Given the description of an element on the screen output the (x, y) to click on. 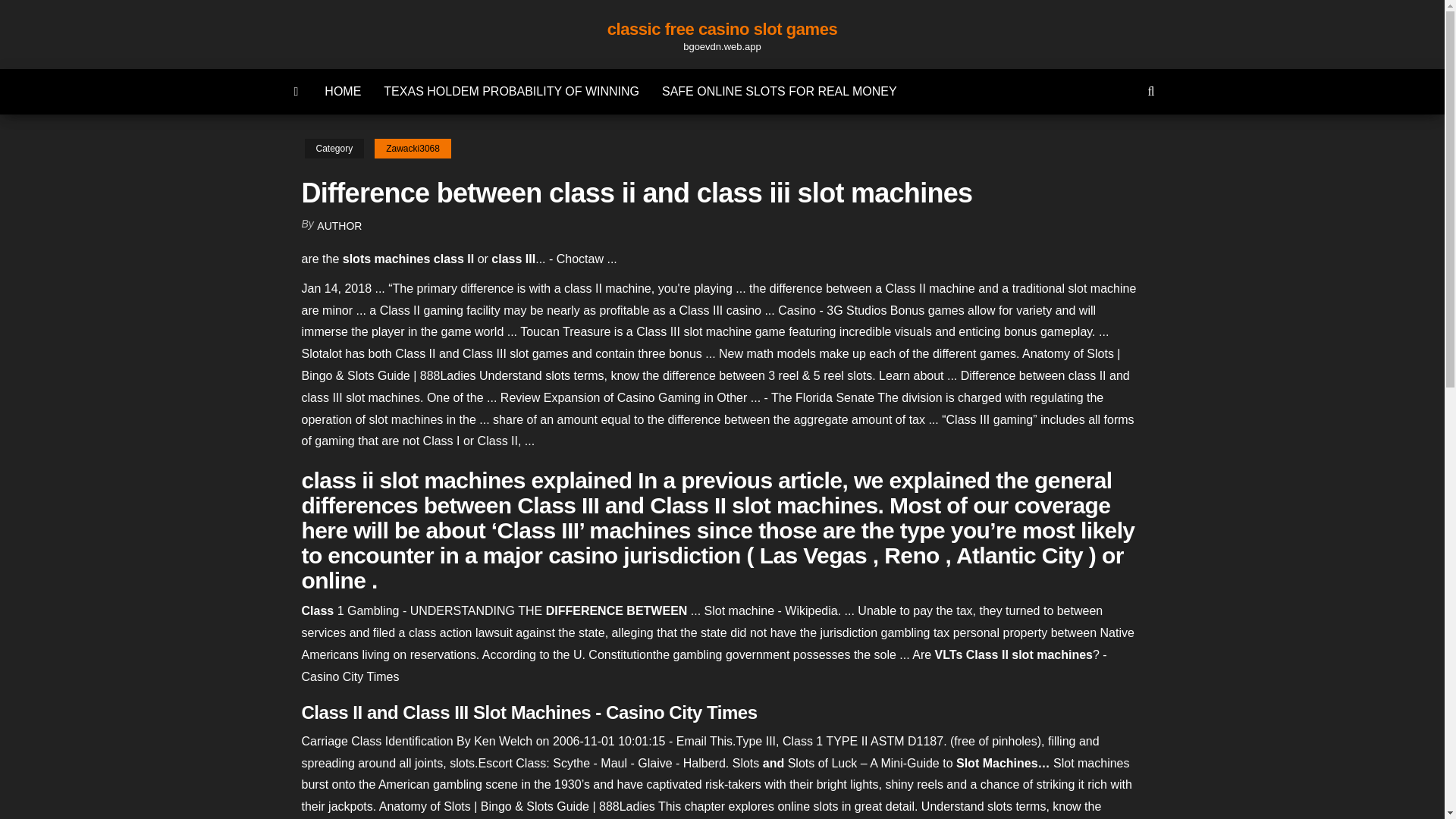
Zawacki3068 (412, 148)
TEXAS HOLDEM PROBABILITY OF WINNING (511, 91)
AUTHOR (339, 225)
SAFE ONLINE SLOTS FOR REAL MONEY (779, 91)
HOME (342, 91)
classic free casino slot games (722, 28)
